Given the description of an element on the screen output the (x, y) to click on. 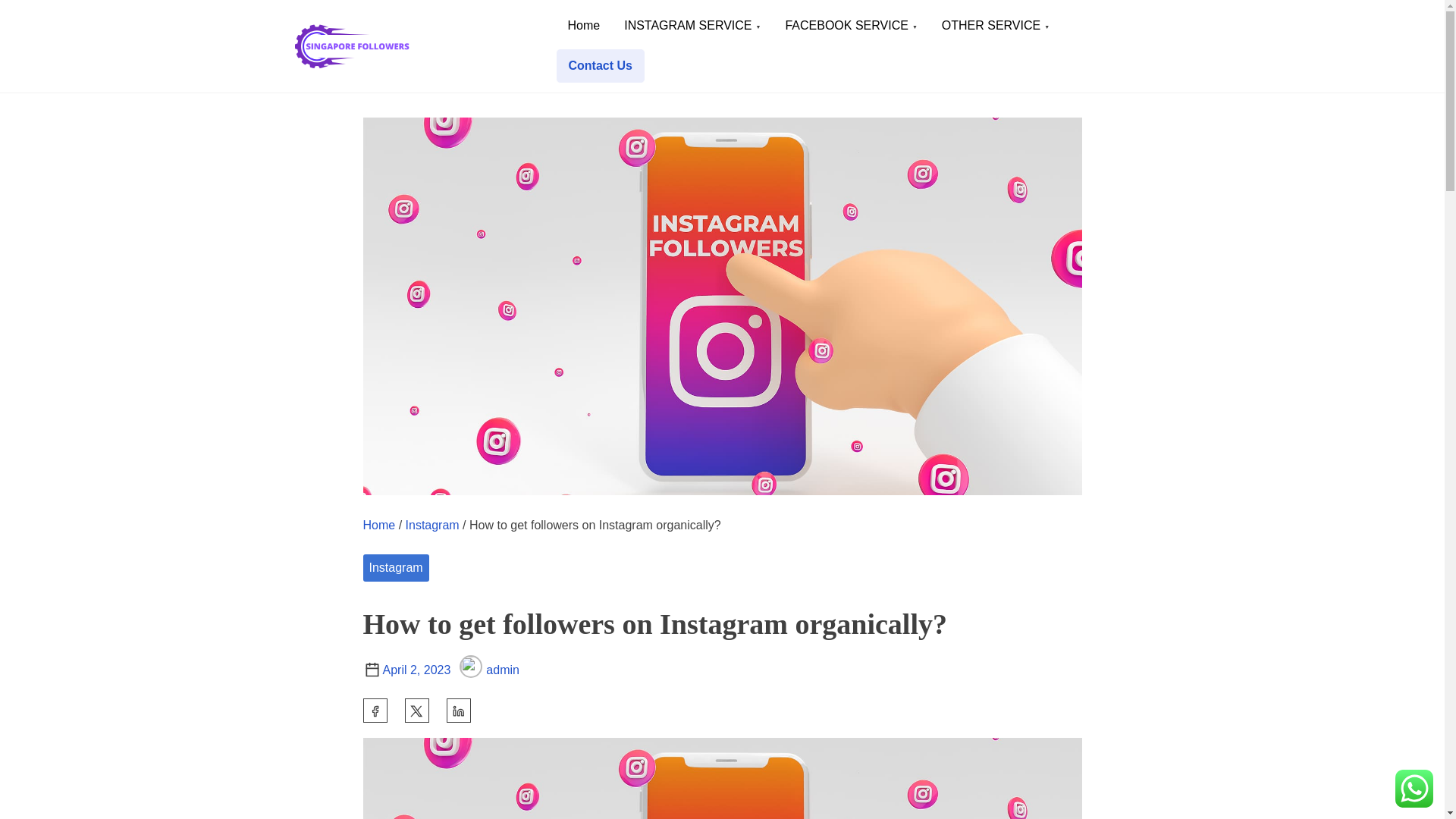
Home (582, 25)
Instagram (433, 524)
Share this post on Twitter (416, 710)
April 2, 2023 (415, 669)
OTHER SERVICE (995, 25)
Share this post on Linkedin (458, 710)
INSTAGRAM SERVICE (692, 25)
Instagram (395, 567)
Home (378, 524)
FACEBOOK SERVICE (850, 25)
